Given the description of an element on the screen output the (x, y) to click on. 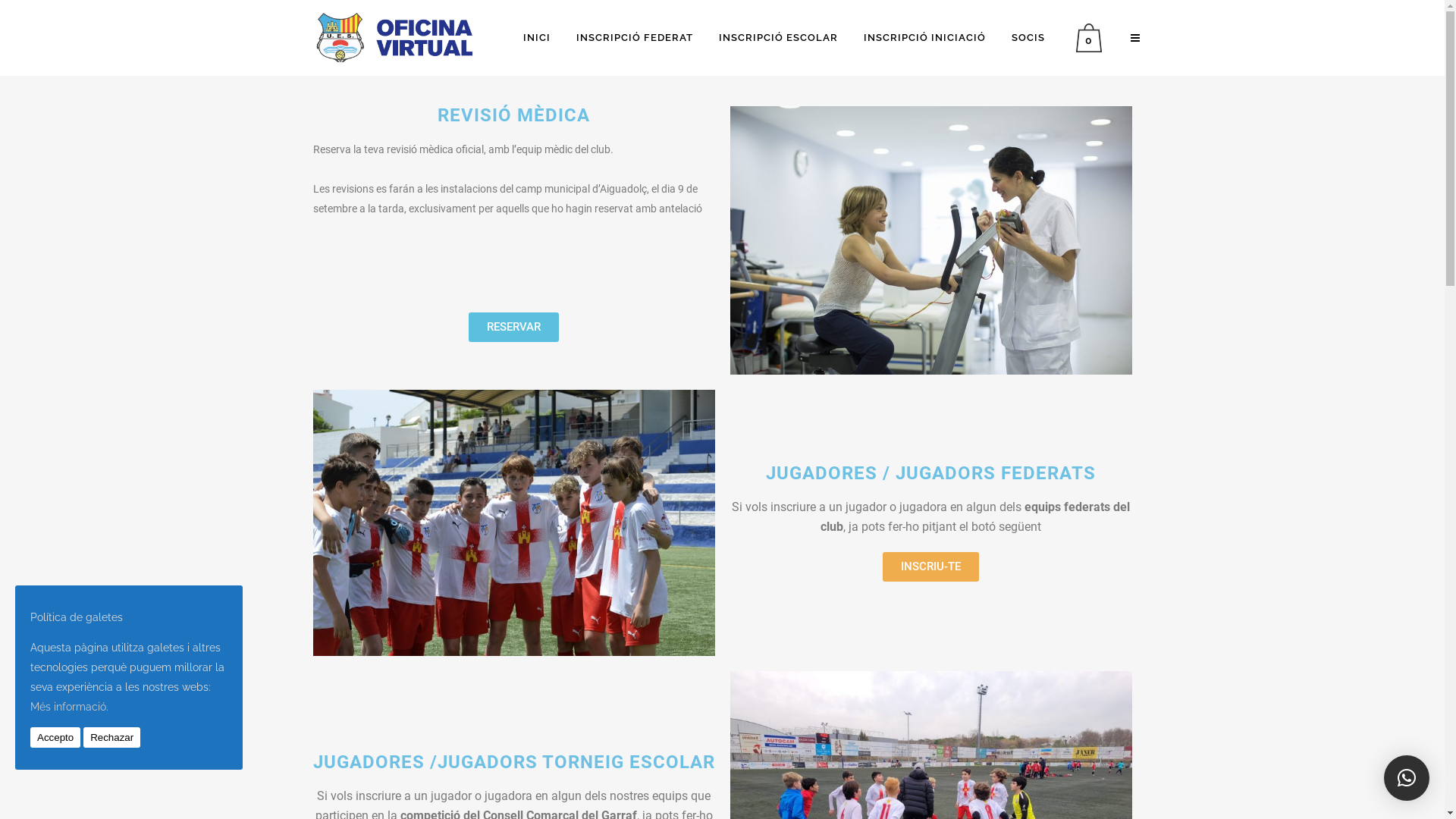
Rechazar Element type: text (111, 737)
Turisme a Sitges Element type: text (437, 678)
Ajuntament de Sitges Element type: text (437, 707)
UE Sitges Element type: text (437, 619)
Com arribar al camp Element type: text (437, 648)
0 Element type: text (1091, 37)
COOKIES Element type: text (489, 776)
RESERVAR Element type: text (513, 327)
SOCIS Element type: text (1027, 37)
CONDICIONS DE COMPRA Element type: text (740, 776)
Equipacions.club Element type: text (760, 793)
Accepto Element type: text (55, 737)
INSCRIU-TE Element type: text (930, 566)
INICI Element type: text (535, 37)
AVISOS LEGALS Element type: text (592, 776)
